Given the description of an element on the screen output the (x, y) to click on. 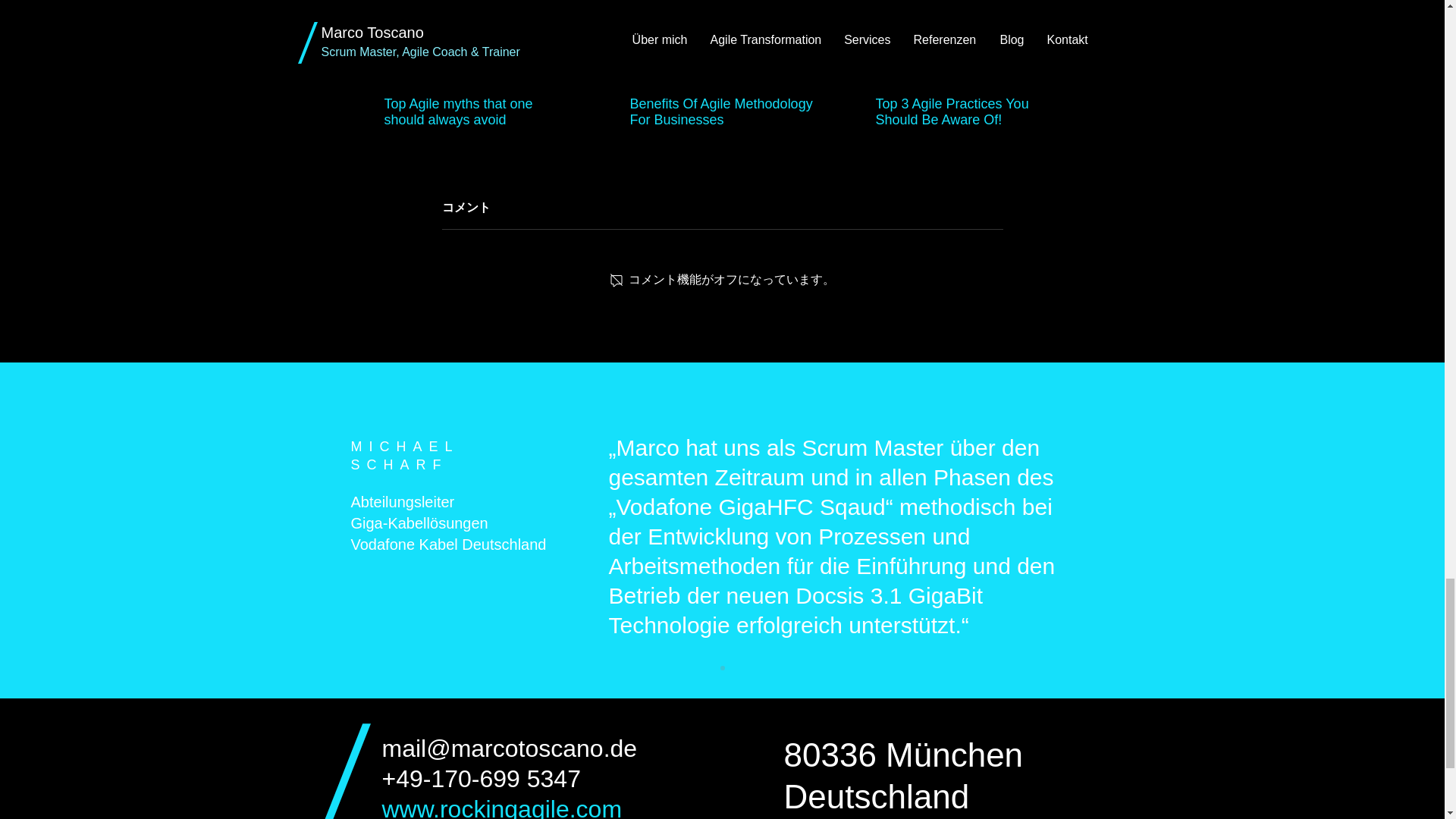
Top Agile myths that one should always avoid (475, 111)
Benefits Of Agile Methodology For Businesses (720, 111)
www.rockingagile.com (502, 807)
Top 3 Agile Practices You Should Be Aware Of! (966, 111)
